Given the description of an element on the screen output the (x, y) to click on. 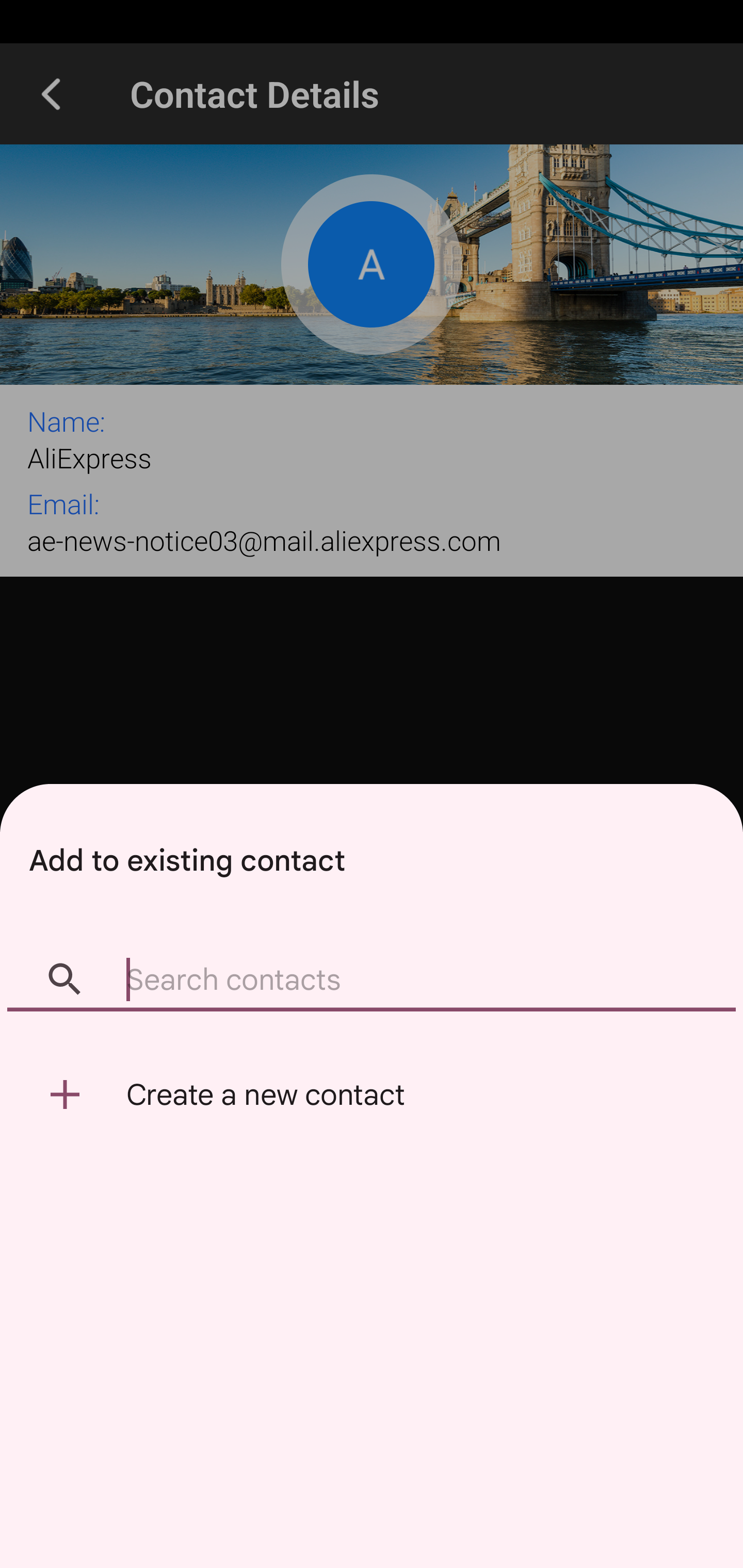
Search contacts (371, 980)
Create a new contact (371, 1094)
